Given the description of an element on the screen output the (x, y) to click on. 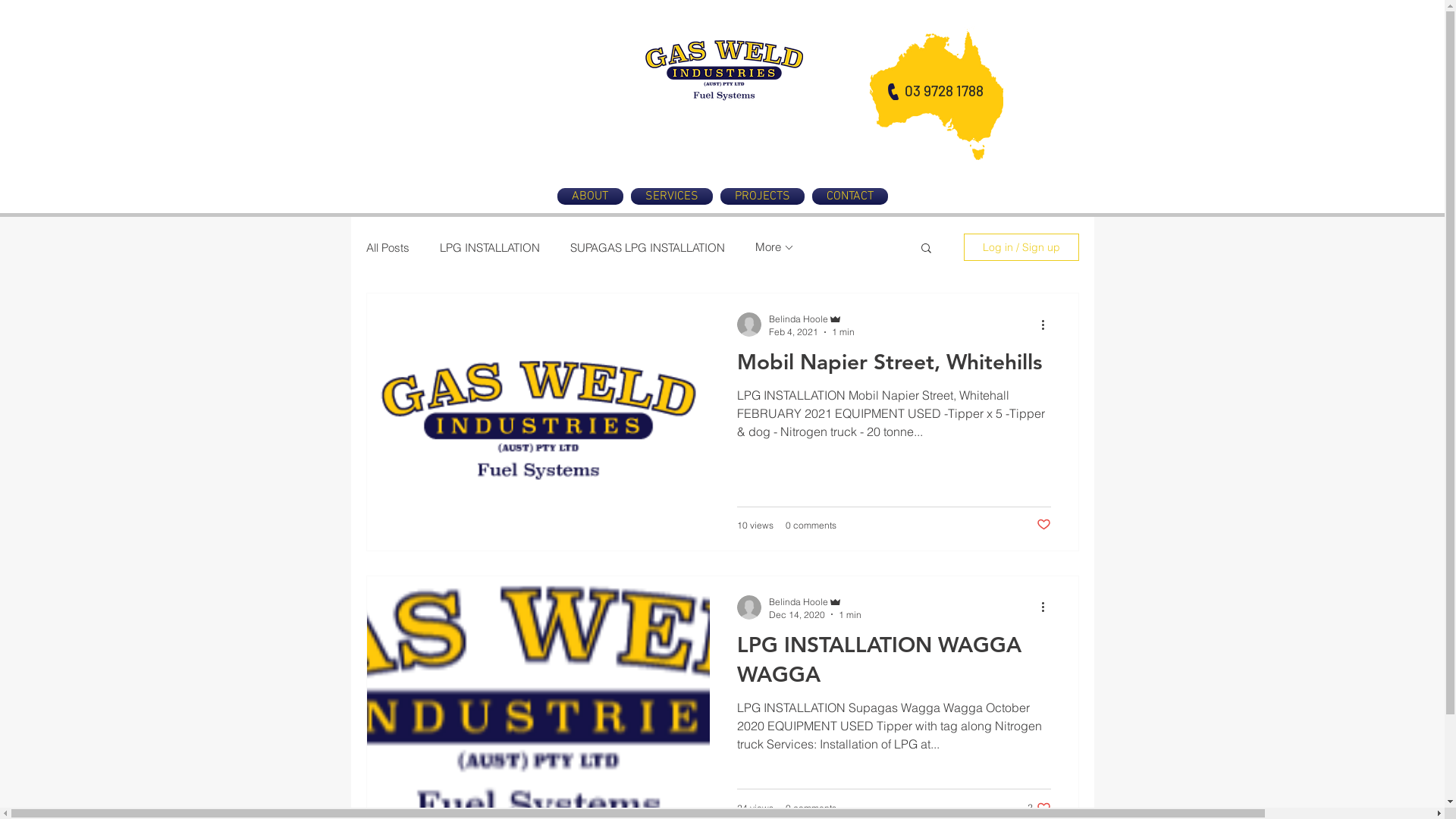
Mobil Napier Street, Whitehills Element type: text (894, 365)
Log in / Sign up Element type: text (1020, 246)
SERVICES Element type: text (670, 196)
Post not marked as liked Element type: text (1042, 525)
ABOUT Element type: text (591, 196)
PROJECTS Element type: text (761, 196)
LPG INSTALLATION WAGGA WAGGA Element type: text (894, 663)
0 comments Element type: text (810, 524)
SUPAGAS LPG INSTALLATION Element type: text (647, 246)
CONTACT Element type: text (848, 196)
0 comments Element type: text (810, 807)
2 likes. Post not marked as liked
2 Element type: text (1038, 807)
03 9728 1788 Element type: text (942, 90)
All Posts Element type: text (386, 246)
LPG INSTALLATION Element type: text (489, 246)
